Given the description of an element on the screen output the (x, y) to click on. 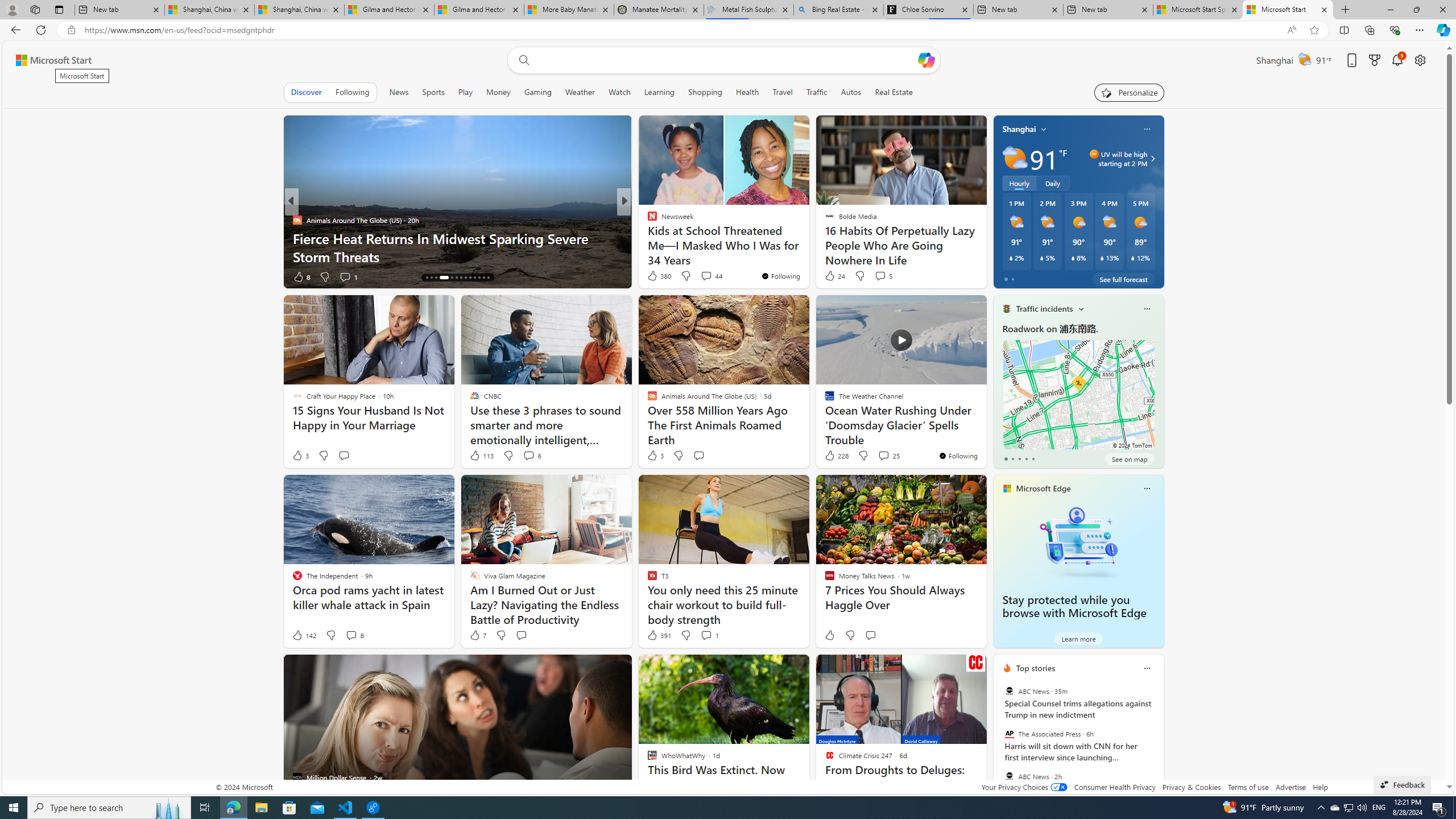
113 Like (480, 455)
Class: weather-arrow-glyph (1152, 158)
13 Like (652, 276)
AutomationID: tab-15 (431, 277)
Rarest.org (647, 238)
tab-4 (1032, 458)
Shanghai (1018, 128)
